Given the description of an element on the screen output the (x, y) to click on. 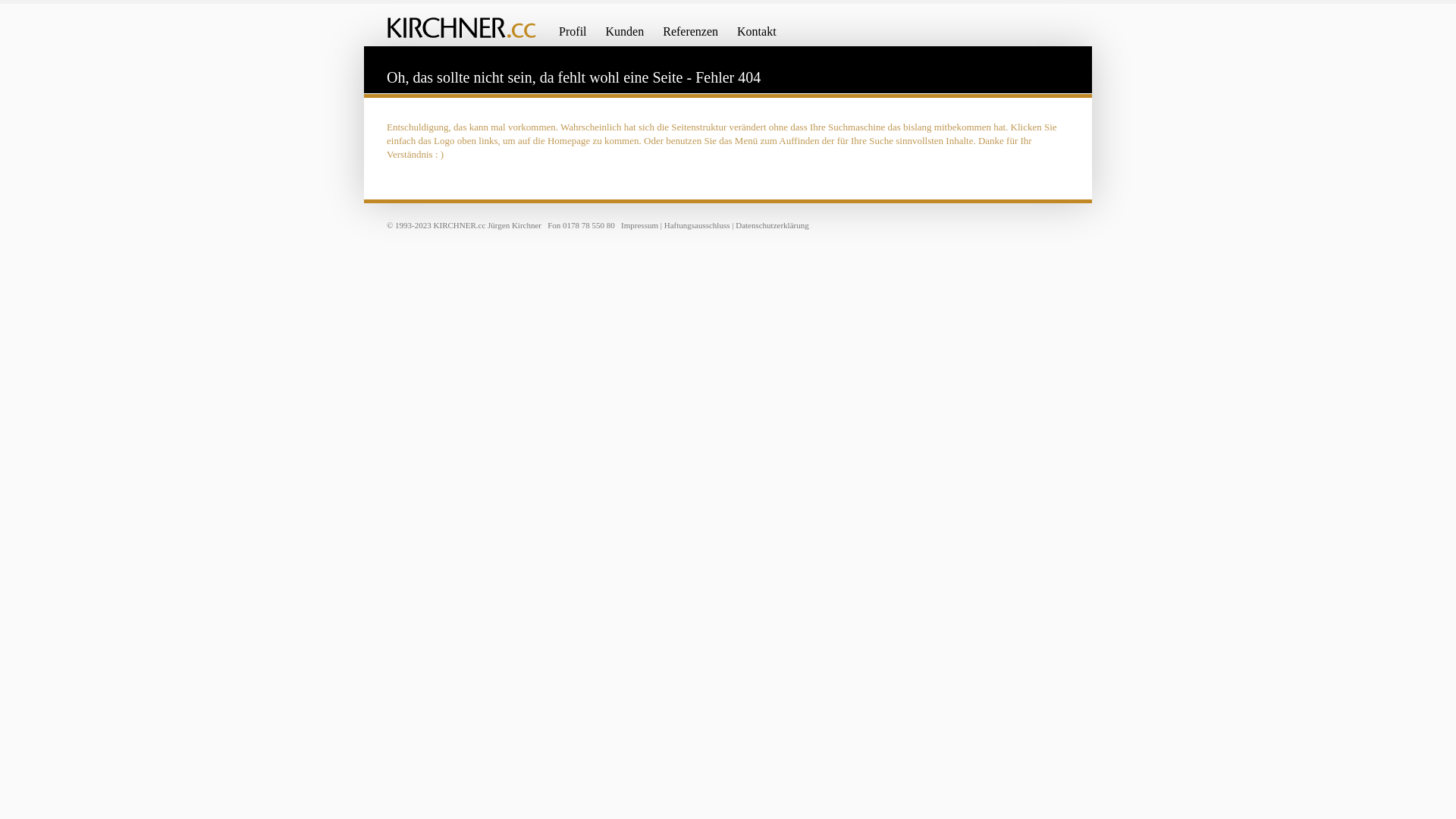
Haftungsausschluss Element type: text (697, 224)
Profil Element type: text (572, 34)
Kontakt Element type: text (756, 34)
Impressum Element type: text (639, 224)
Referenzen Element type: text (690, 34)
Kunden Element type: text (624, 34)
